Given the description of an element on the screen output the (x, y) to click on. 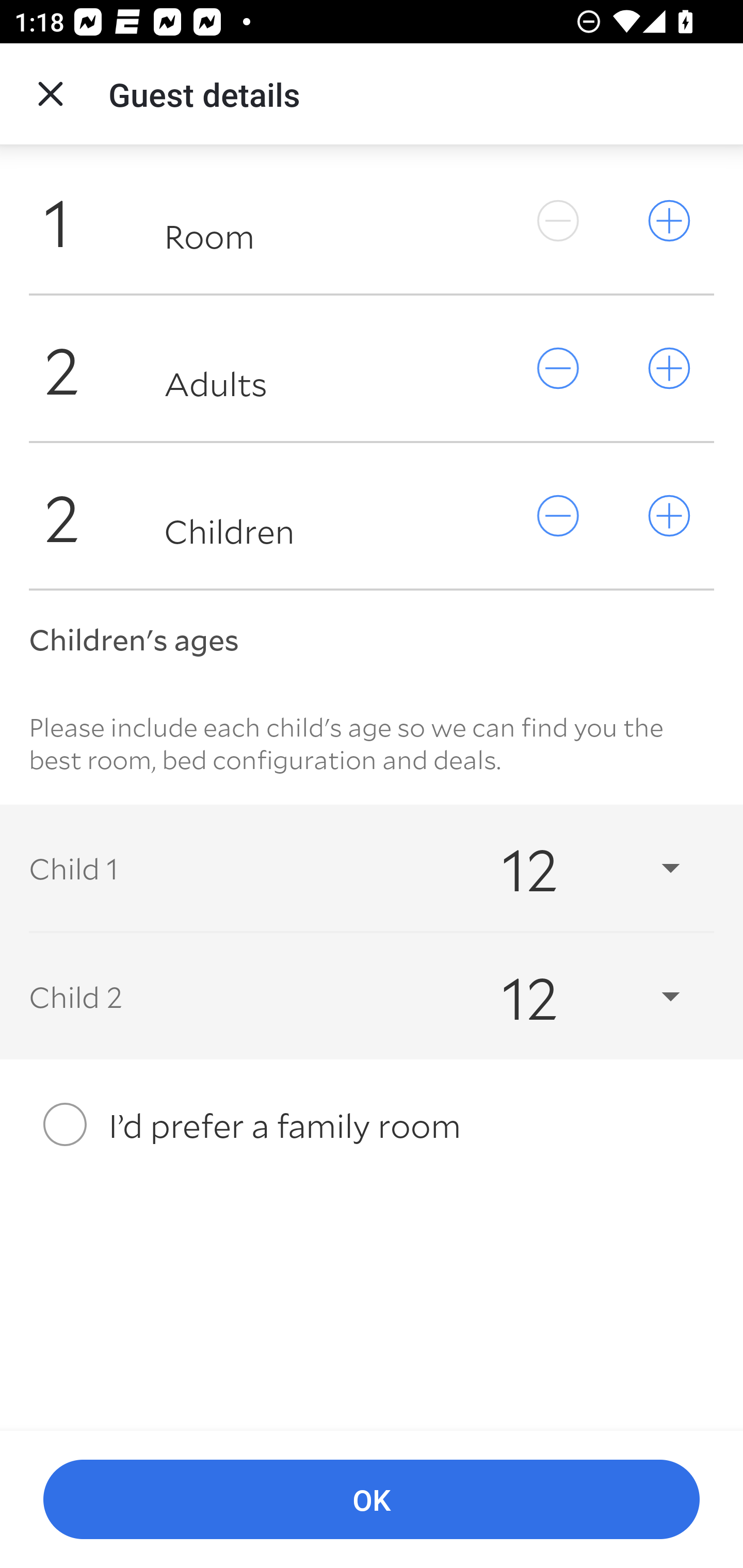
12 (573, 867)
12 (573, 996)
I’d prefer a family room (371, 1124)
OK (371, 1499)
